Given the description of an element on the screen output the (x, y) to click on. 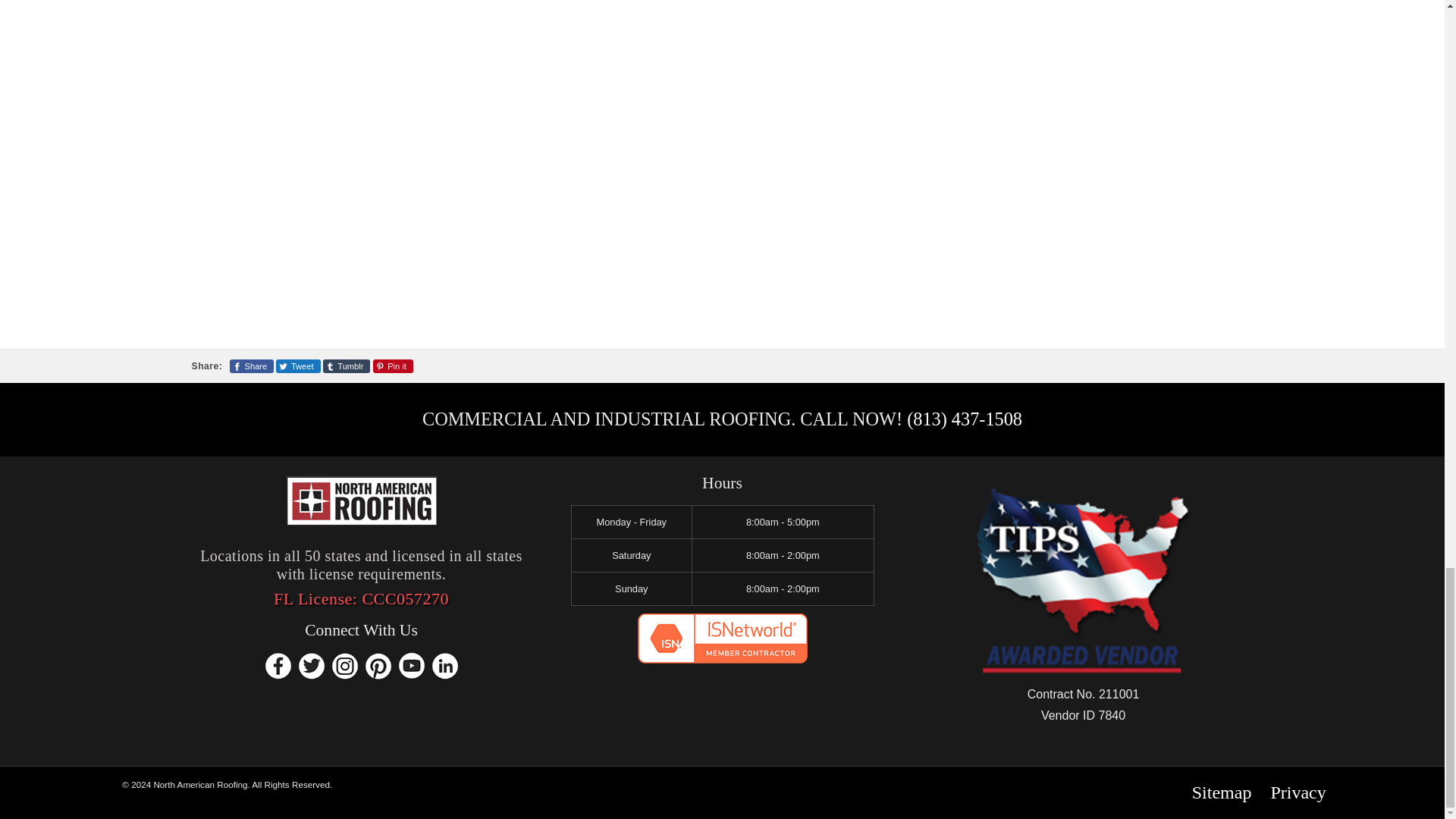
Twitter (310, 665)
Facebook (277, 665)
Pinterest (377, 665)
YouTube (411, 665)
LinkedIn (444, 665)
Instagram (344, 665)
